Given the description of an element on the screen output the (x, y) to click on. 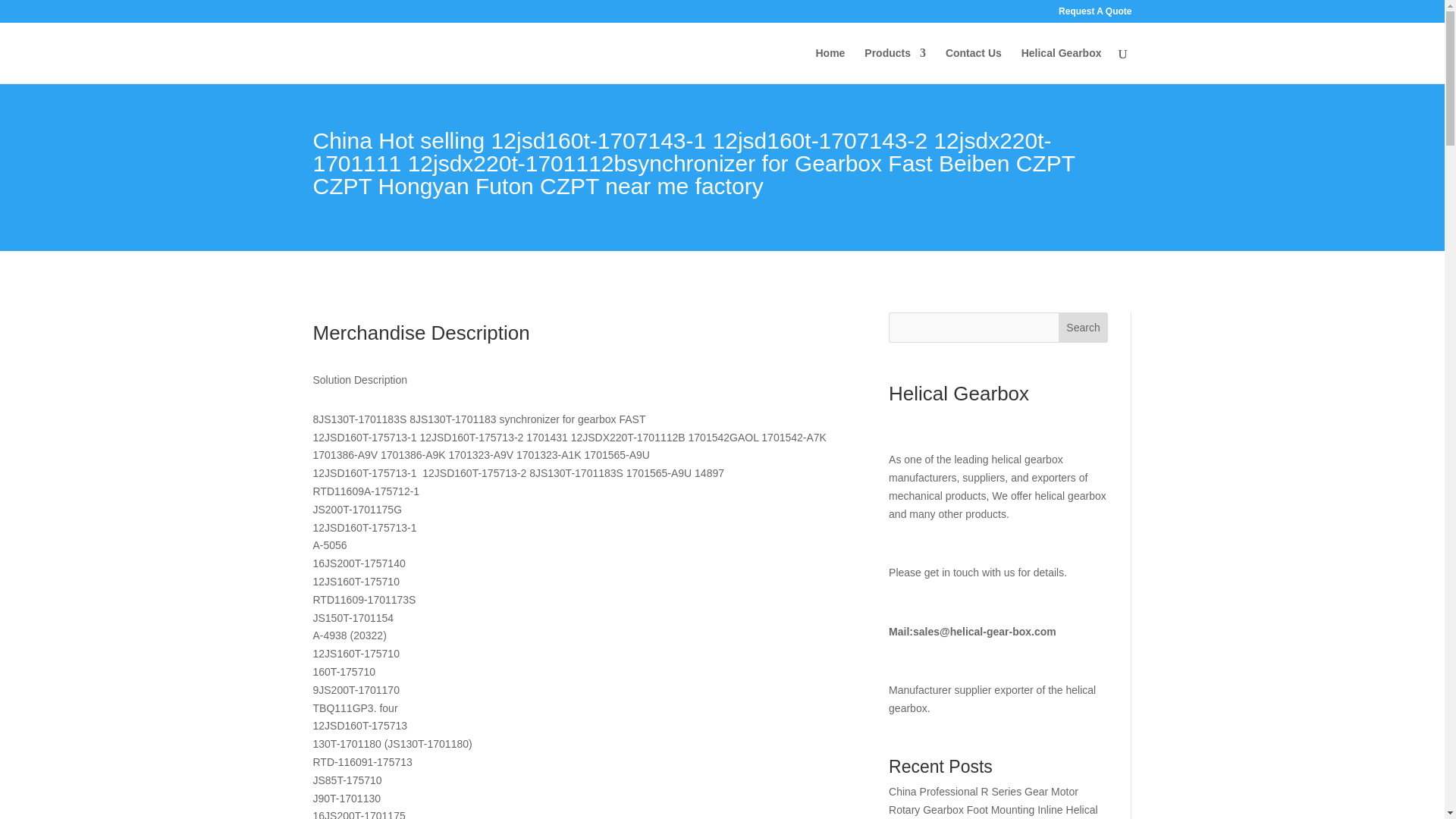
Search (1083, 327)
Products (895, 65)
Request A Quote (1094, 14)
Contact Us (972, 65)
Helical Gearbox (1062, 65)
